Given the description of an element on the screen output the (x, y) to click on. 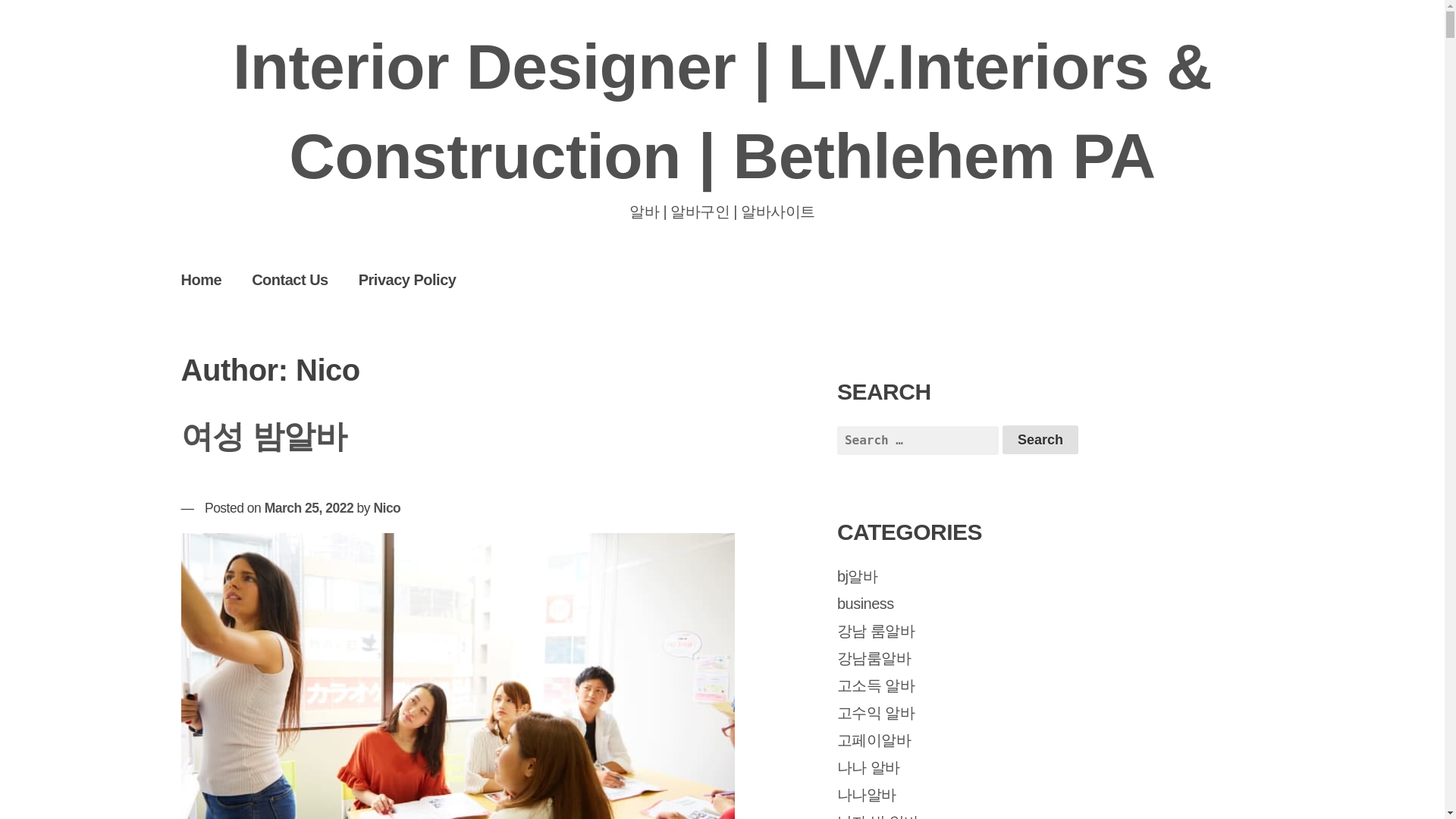
Privacy Policy (407, 279)
Search (1040, 439)
Nico (386, 507)
March 25, 2022 (308, 507)
Search (1040, 439)
Home (201, 279)
Contact Us (289, 279)
